Given the description of an element on the screen output the (x, y) to click on. 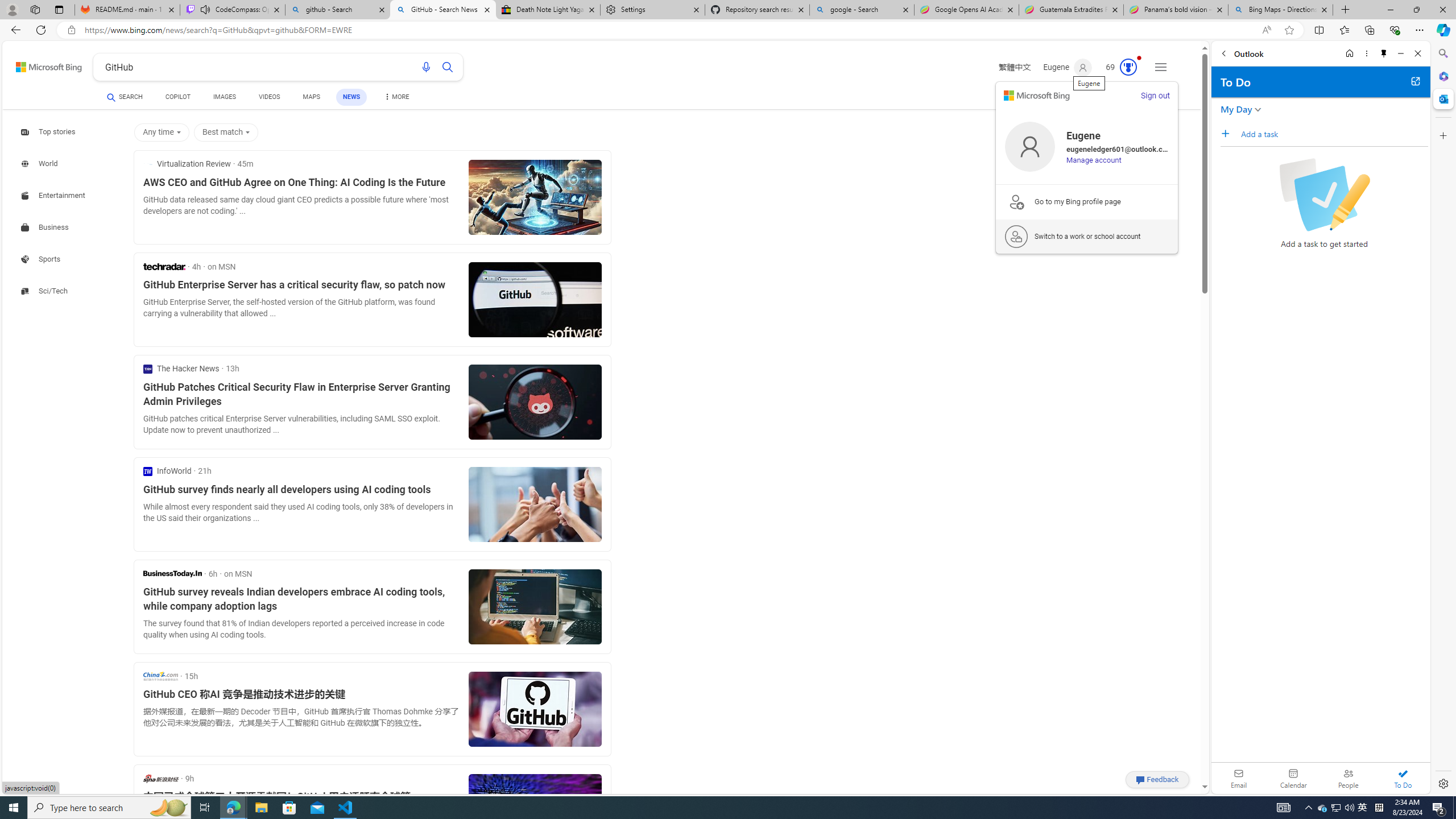
github - Search (337, 9)
Calendar. Date today is 22 (1293, 777)
Search news about Sports (41, 258)
Email (1238, 777)
COPILOT (178, 96)
Microsoft Rewards 66 (1118, 67)
AutomationID: rh_meter (1128, 66)
COPILOT (178, 98)
Best match (227, 132)
